Given the description of an element on the screen output the (x, y) to click on. 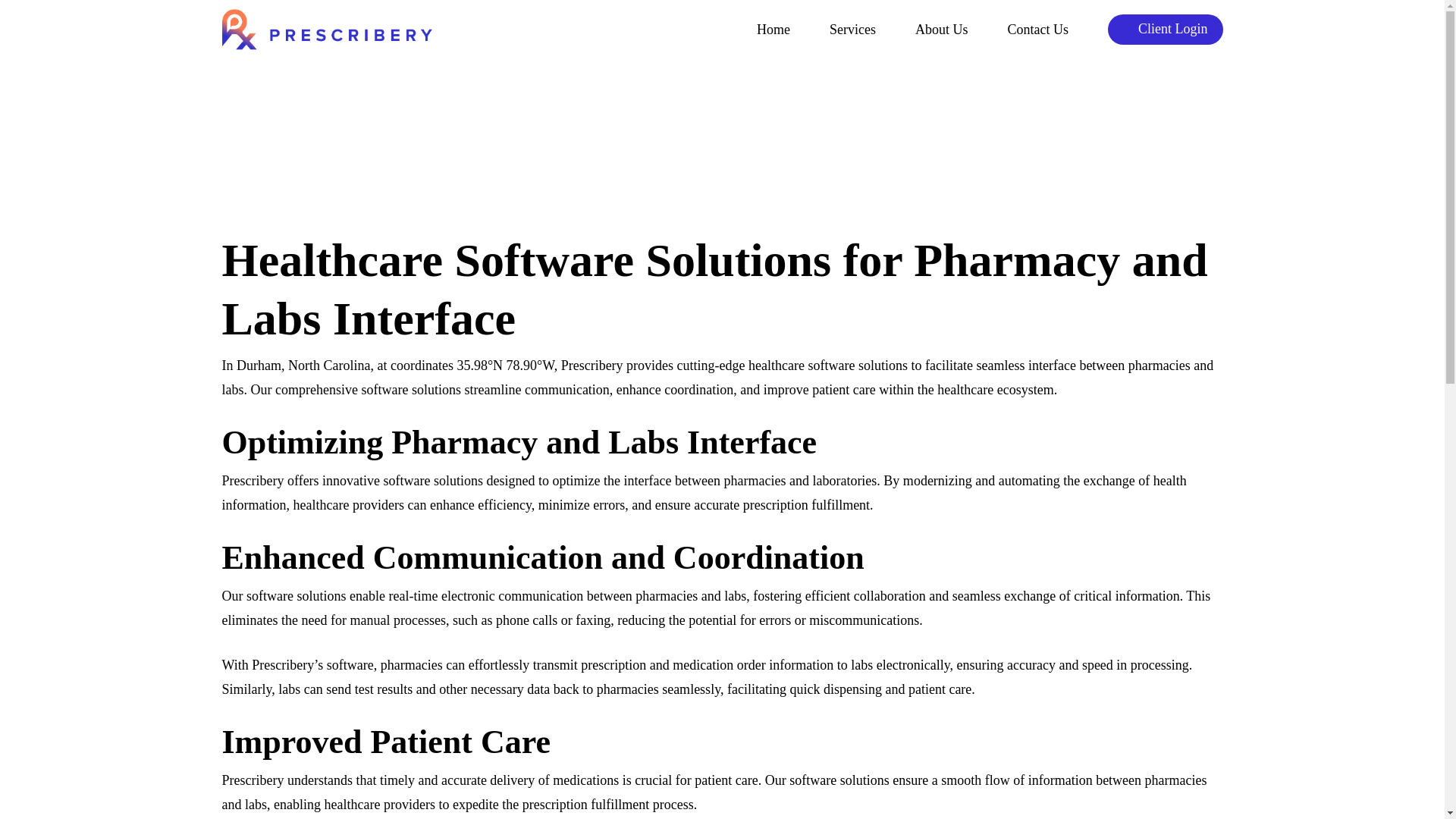
Client Login (1165, 29)
About Us (941, 29)
Contact Us (1037, 29)
Services (852, 29)
Home (773, 29)
